Given the description of an element on the screen output the (x, y) to click on. 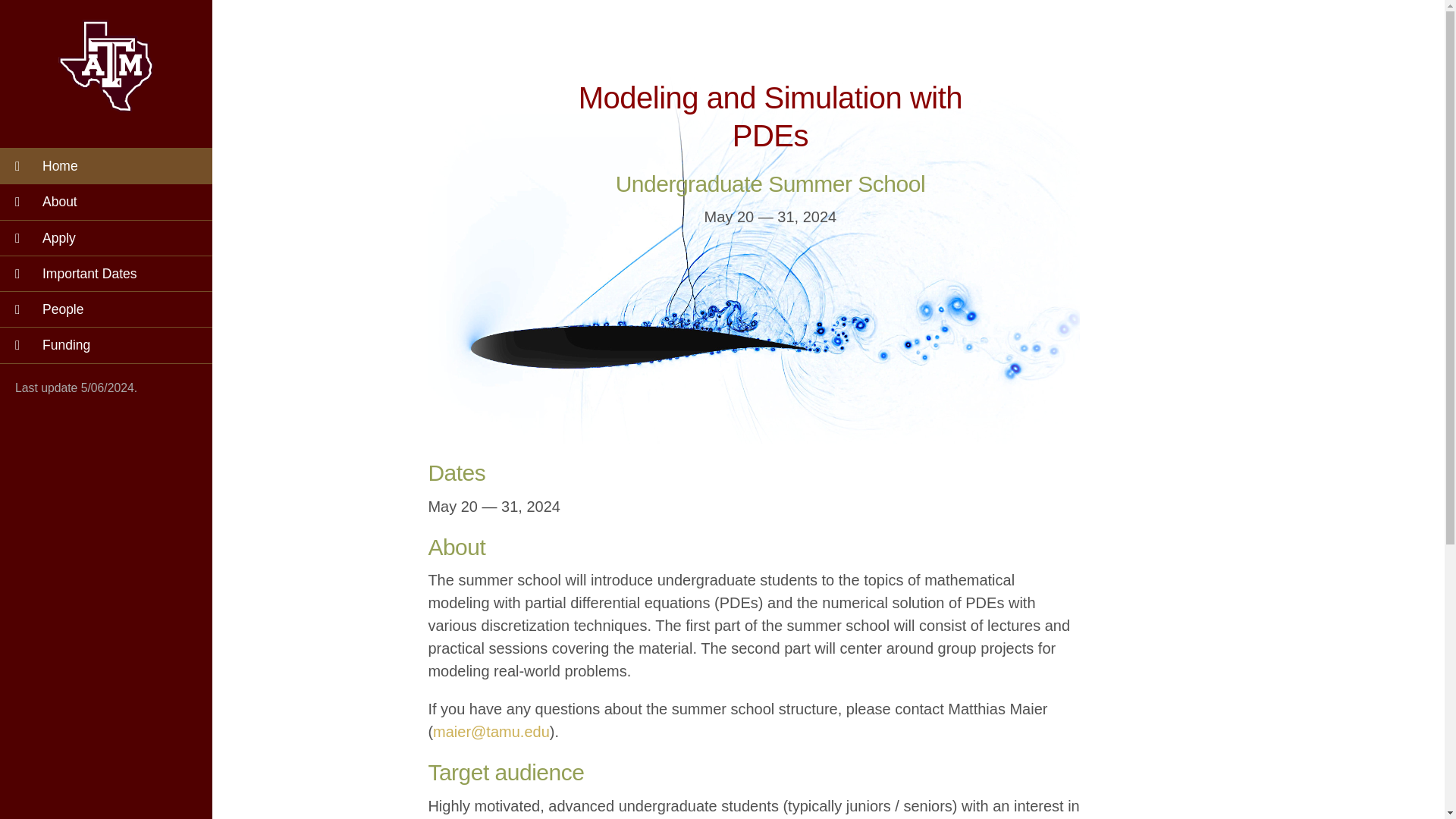
  Important Dates (106, 273)
  Funding (106, 344)
  People (106, 308)
  Home (106, 165)
  Apply (106, 237)
  About (106, 201)
